Given the description of an element on the screen output the (x, y) to click on. 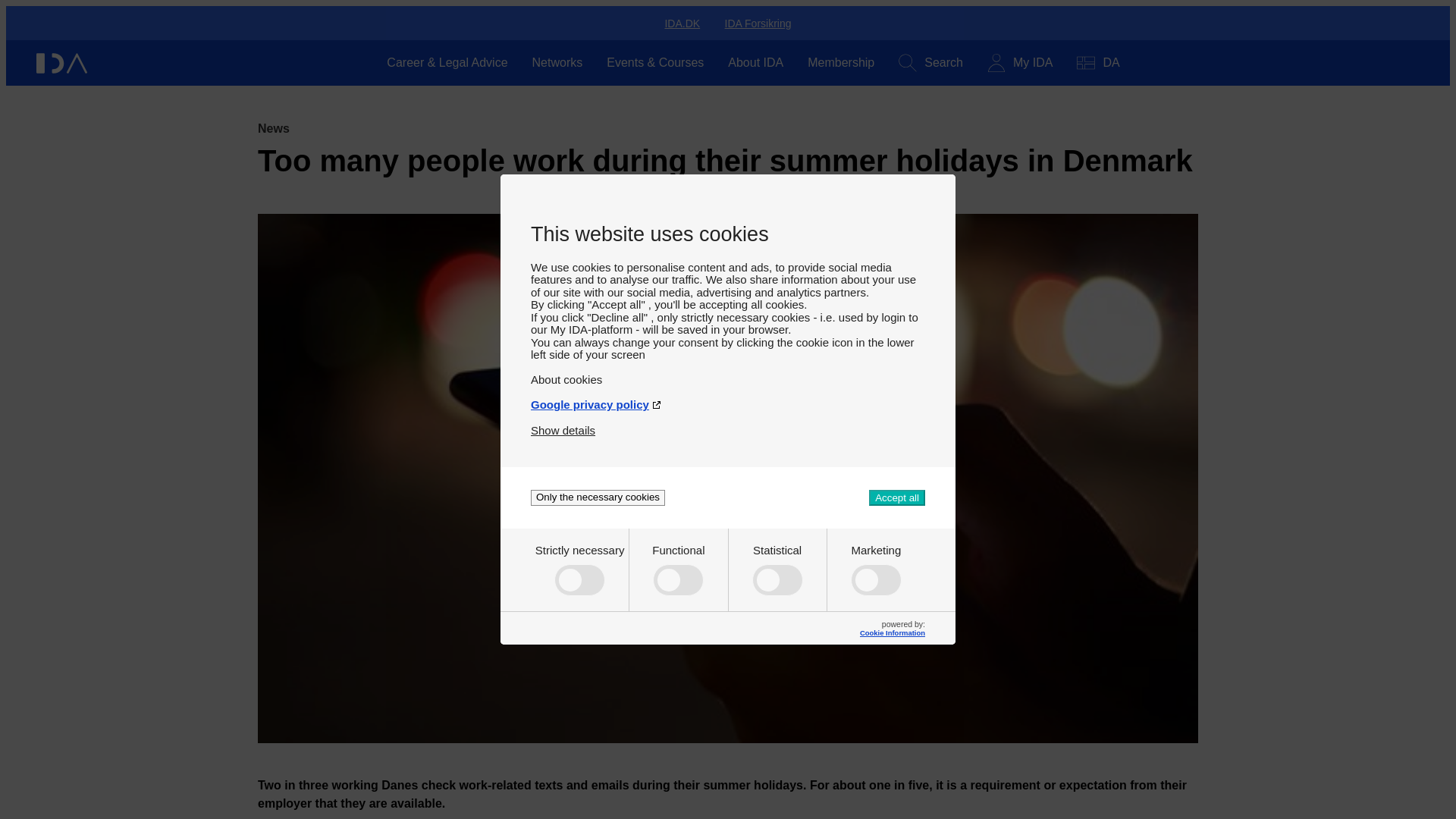
Google privacy policy (727, 404)
Show details (563, 430)
About cookies (727, 379)
